Given the description of an element on the screen output the (x, y) to click on. 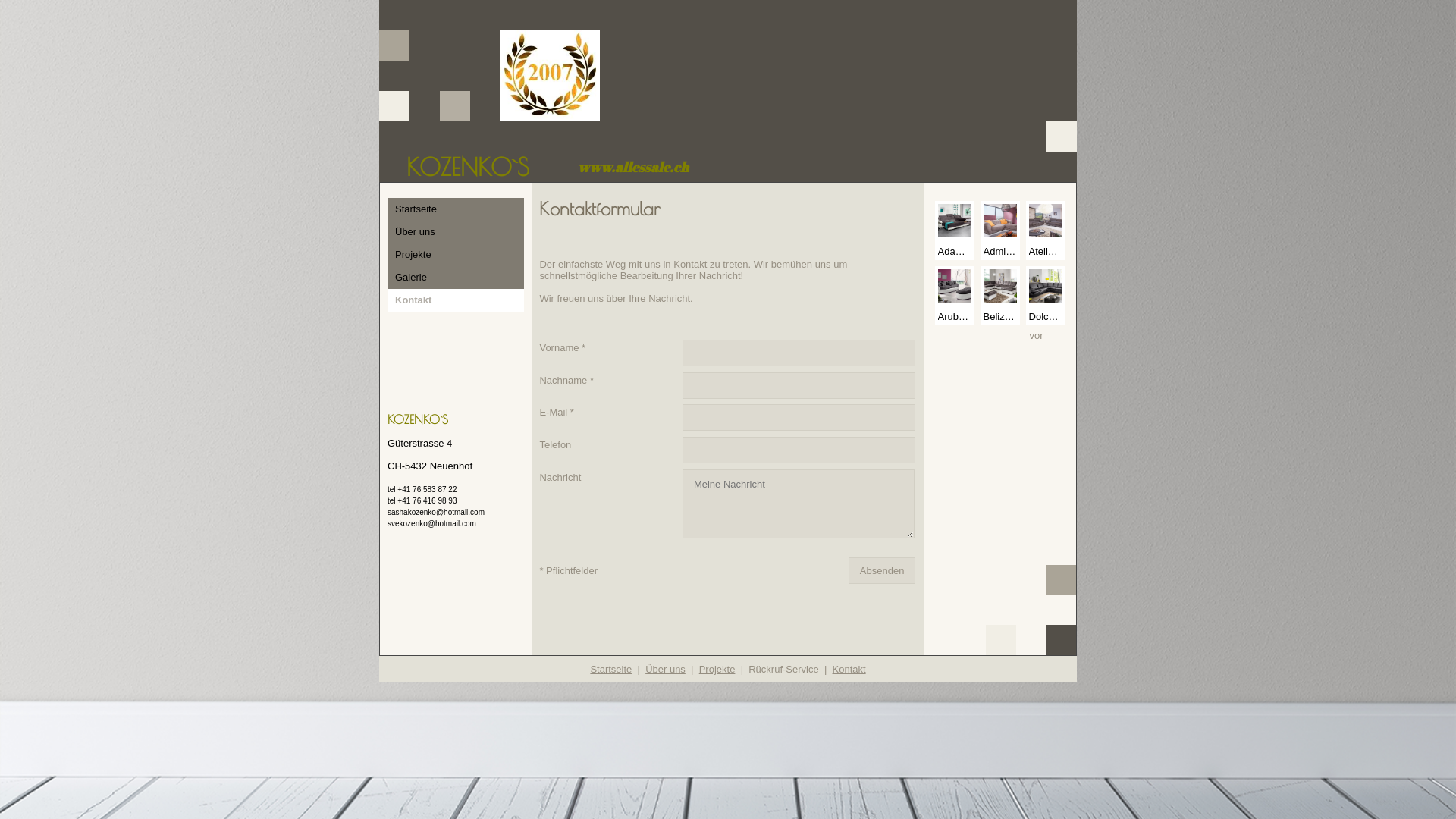
Kontakt Element type: text (455, 299)
Adam II 3F-REC-BK F1... Element type: text (954, 230)
Dolce 2,5-TRE-2 D209... Element type: text (1045, 295)
vor Element type: text (1036, 335)
Galerie Element type: text (455, 277)
Projekte Element type: text (455, 254)
Absenden Element type: text (882, 570)
Startseite Element type: text (610, 668)
Belize OTM-3F-REC A1... Element type: text (999, 295)
Atelier 3-2 M9035 Fu... Element type: text (1045, 230)
Startseite Element type: text (455, 208)
Kontakt Element type: text (849, 668)
Admiral 2.5-REC B139... Element type: text (999, 230)
Projekte Element type: text (717, 668)
Aruba II Megasofa-Ho... Element type: text (954, 295)
